Given the description of an element on the screen output the (x, y) to click on. 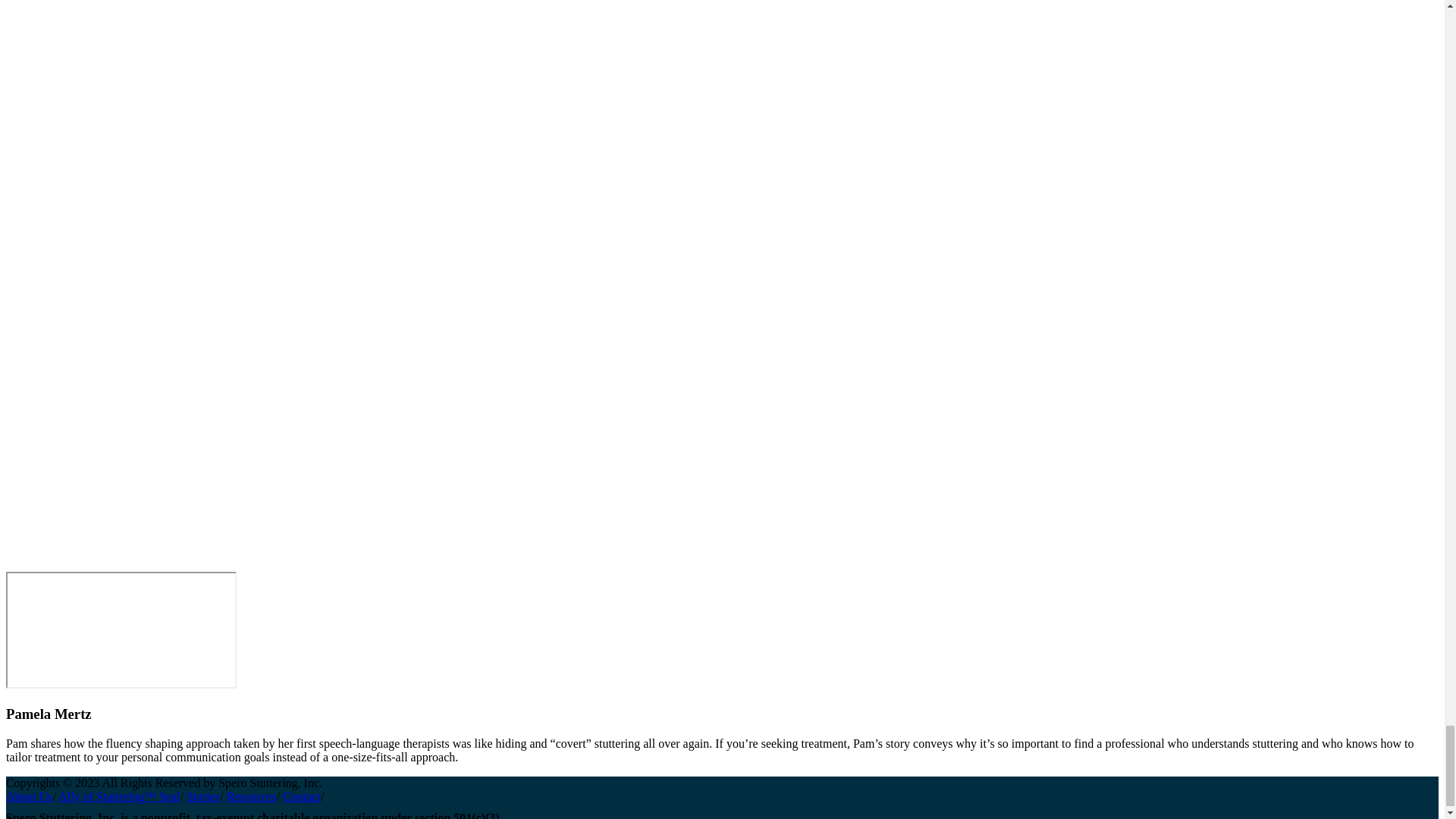
Contact (301, 796)
Resources (251, 796)
About Us (28, 796)
Stories (202, 796)
